Given the description of an element on the screen output the (x, y) to click on. 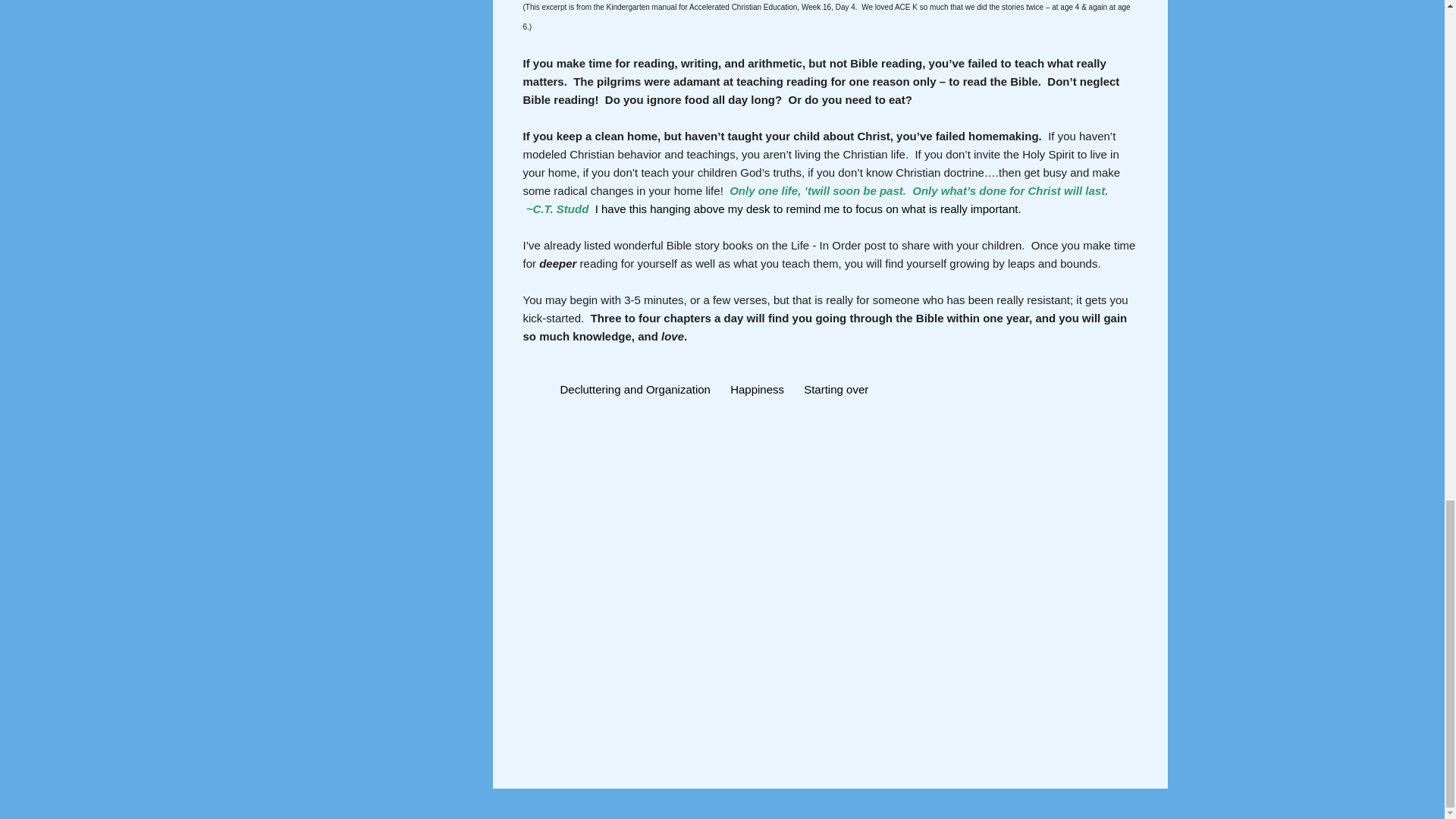
Starting over (835, 389)
Decluttering and Organization (635, 389)
Happiness (756, 389)
